Given the description of an element on the screen output the (x, y) to click on. 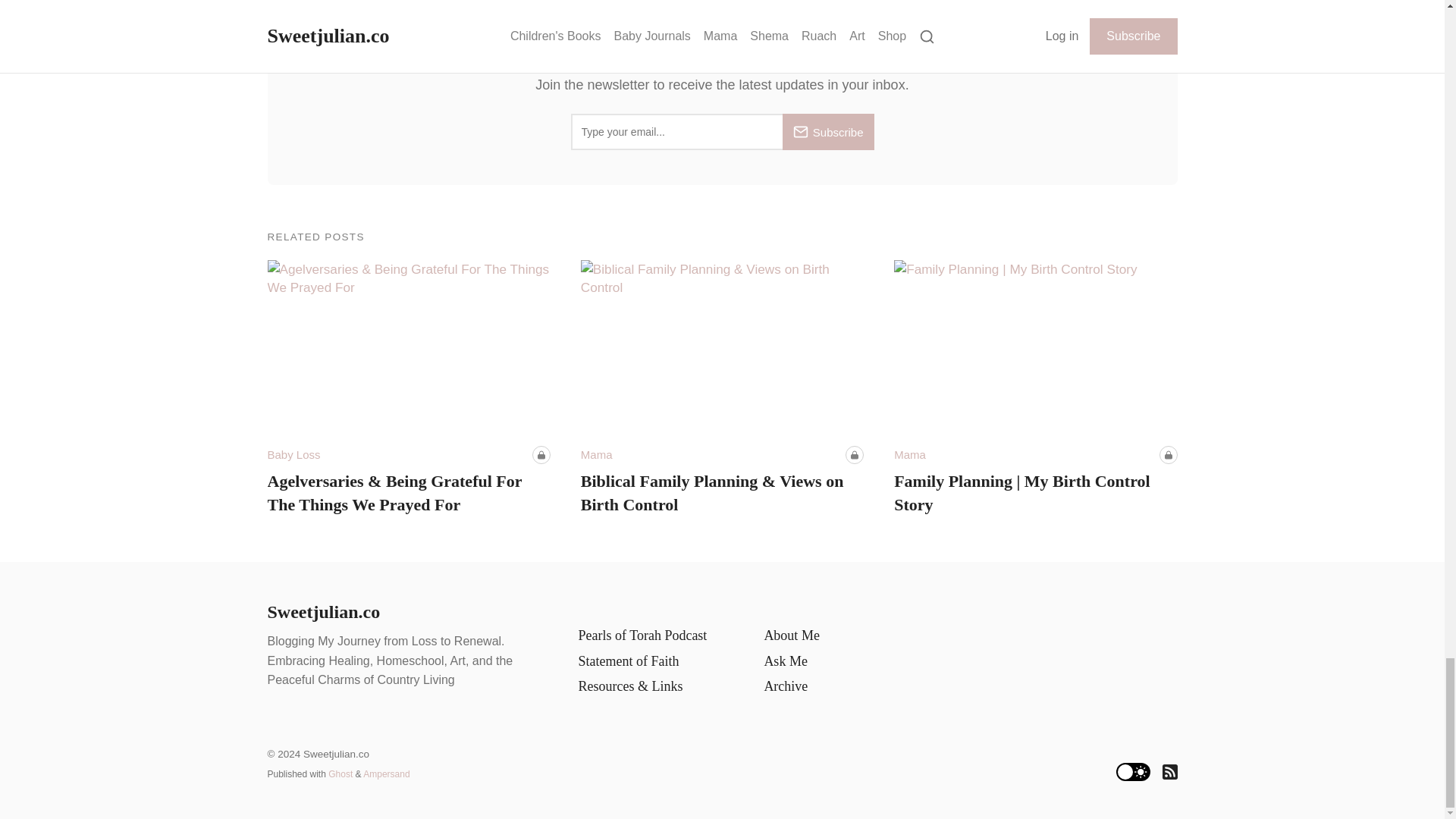
Color Scheme (1133, 771)
RSS (1168, 771)
